Given the description of an element on the screen output the (x, y) to click on. 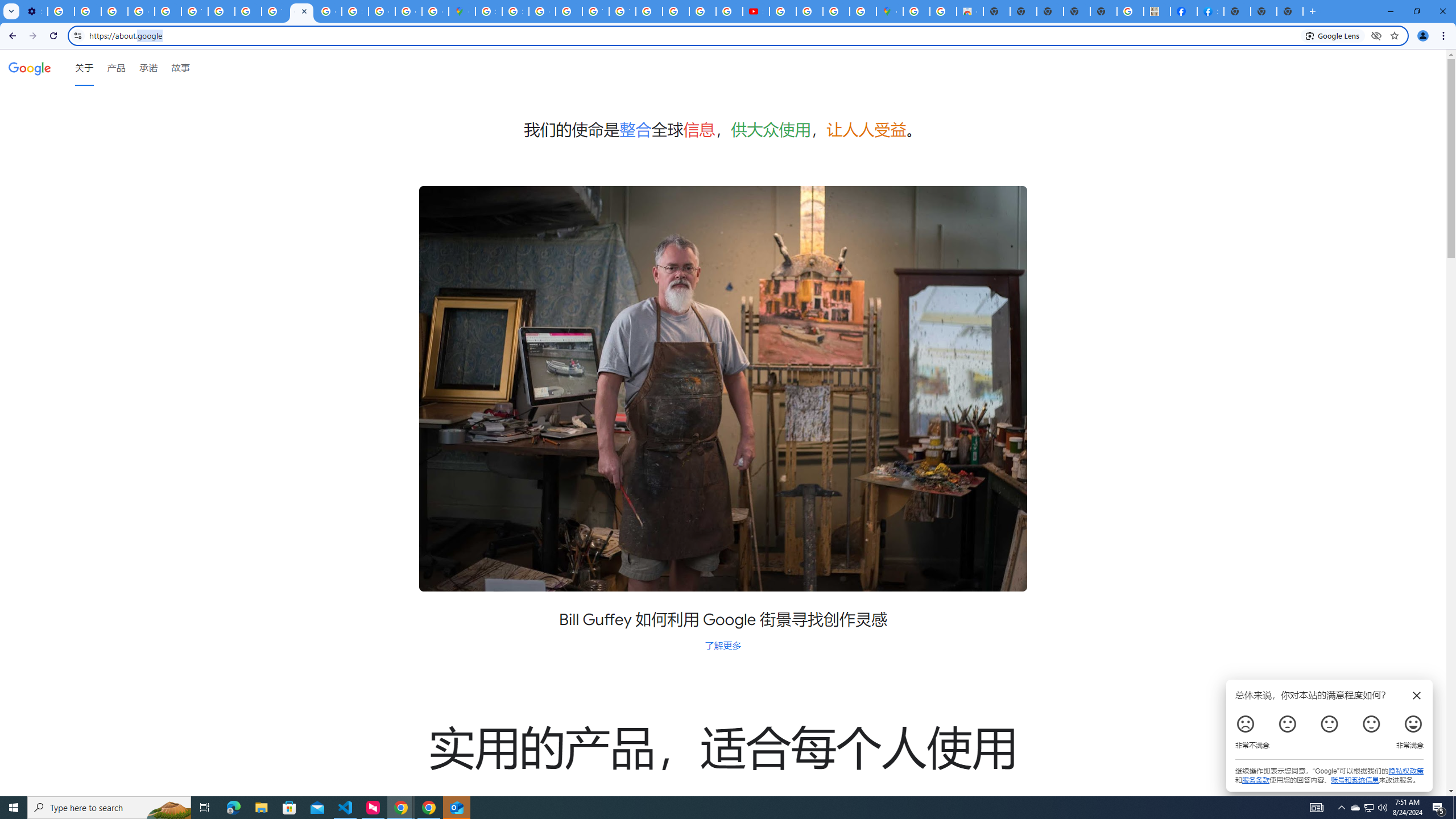
Sign Up for Facebook (1210, 11)
